Given the description of an element on the screen output the (x, y) to click on. 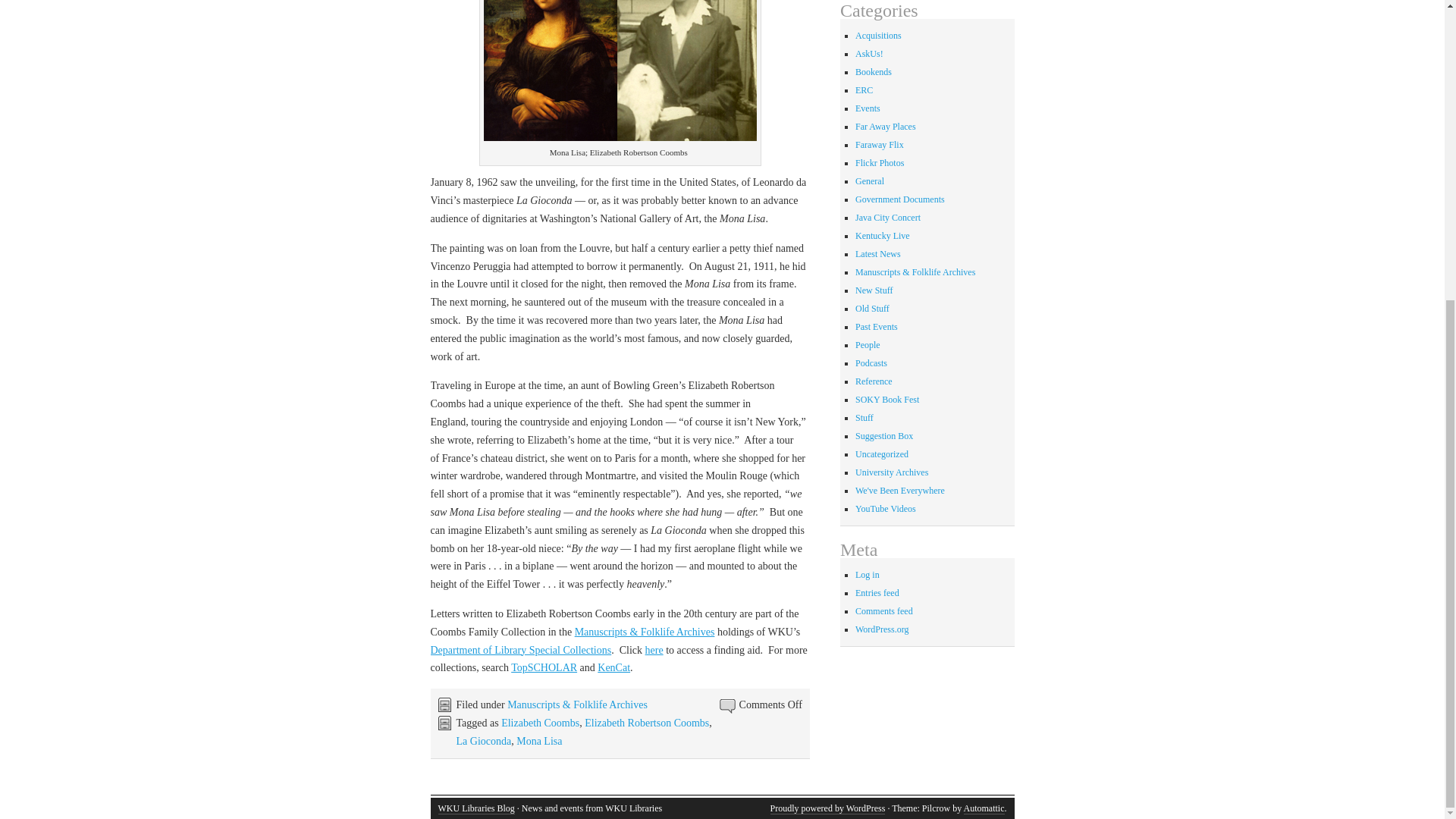
Acquisitions (878, 35)
ERC (864, 90)
Faraway Flix (880, 144)
Podcasts (871, 362)
Government Documents (900, 199)
Elizabeth Coombs (539, 722)
Bookends (873, 71)
WKU Libraries Blog (476, 808)
Mona Lisa (539, 740)
General (869, 181)
A Semantic Personal Publishing Platform (827, 808)
here (654, 650)
Latest News (878, 253)
TopSCHOLAR (543, 667)
Far Away Places (885, 126)
